Given the description of an element on the screen output the (x, y) to click on. 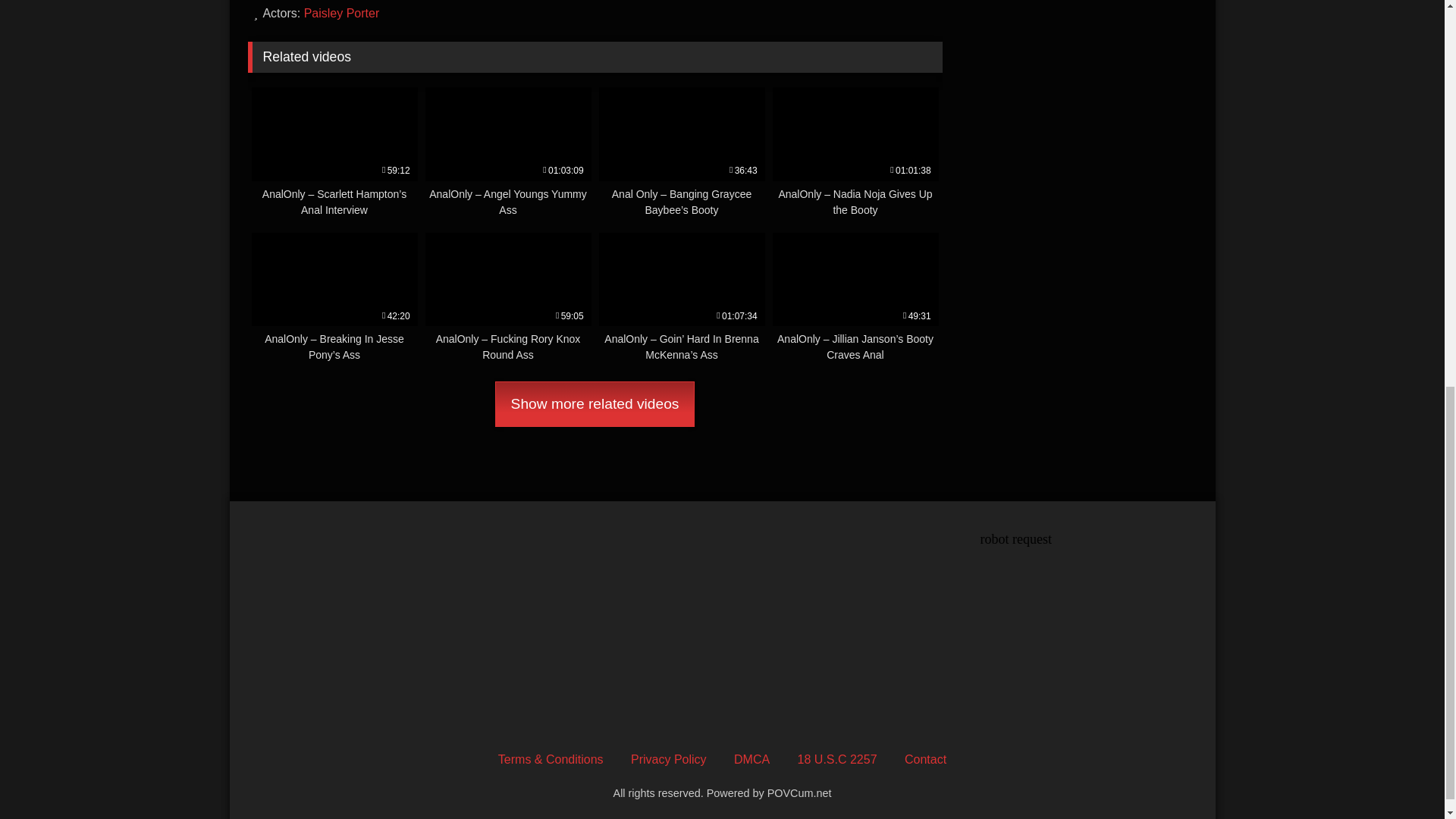
Paisley Porter (342, 12)
Show more related videos (594, 403)
18 U.S.C 2257 (837, 758)
Paisley Porter (342, 12)
DMCA (751, 758)
Privacy Policy (668, 758)
Contact (925, 758)
